Given the description of an element on the screen output the (x, y) to click on. 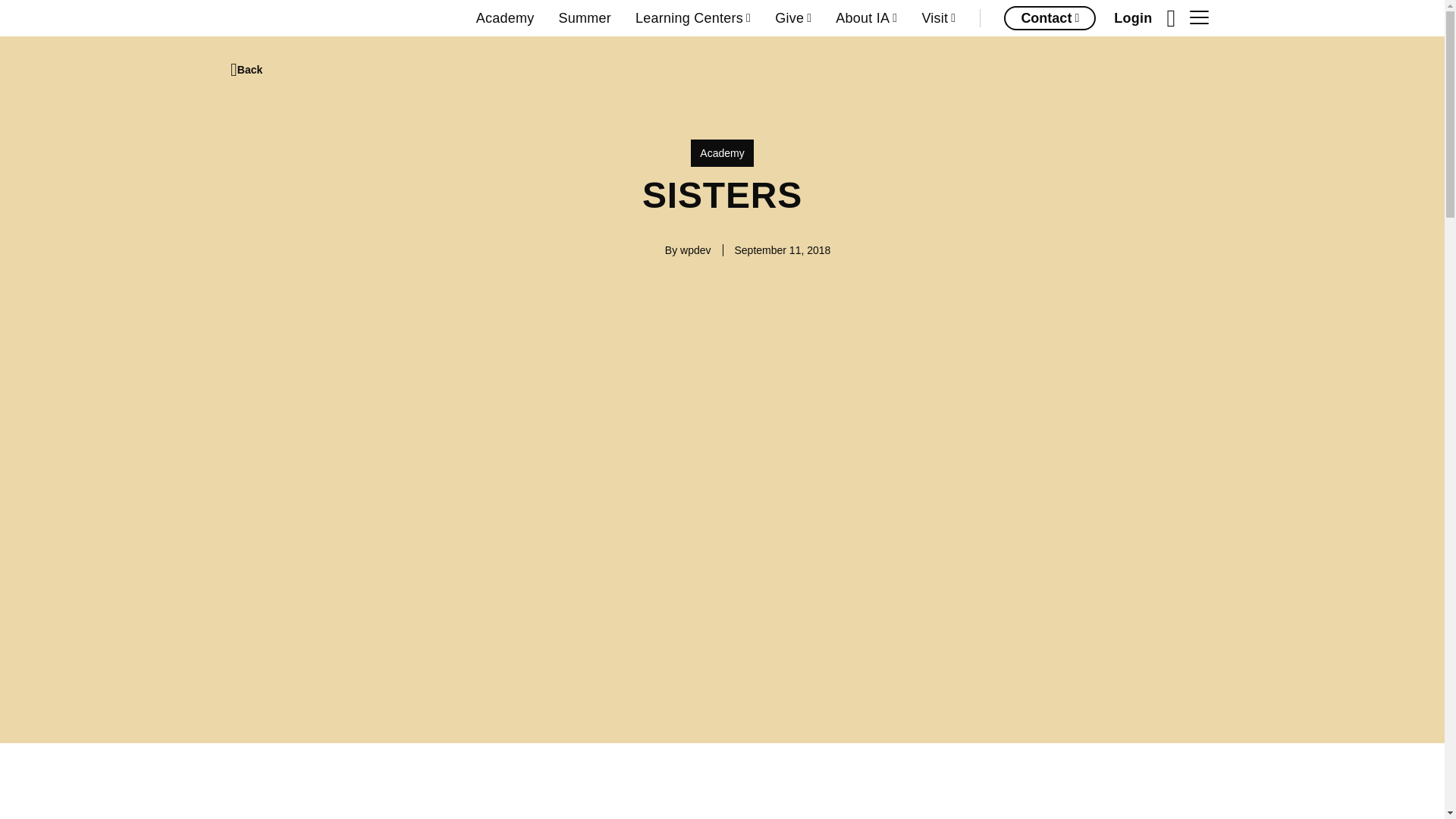
Contact (1050, 17)
Summer (584, 18)
About IA (865, 18)
Login (1132, 18)
Learning Centers (692, 18)
Academy (505, 18)
Give (792, 18)
Visit (938, 18)
